Given the description of an element on the screen output the (x, y) to click on. 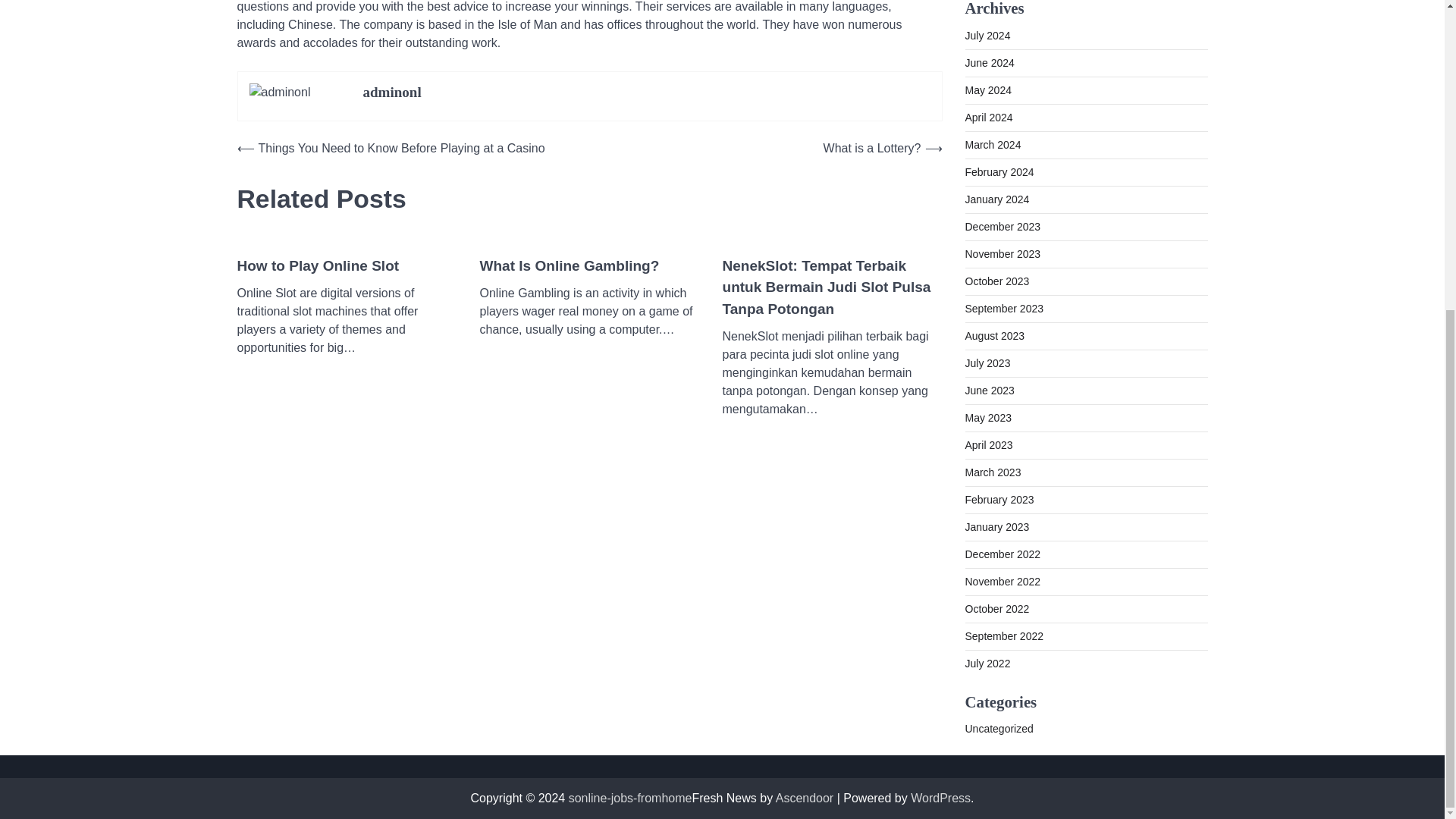
March 2024 (991, 144)
January 2023 (996, 526)
August 2023 (994, 336)
How to Play Online Slot (316, 266)
September 2023 (1003, 308)
May 2023 (986, 417)
January 2024 (996, 199)
December 2023 (1002, 226)
February 2023 (998, 499)
March 2023 (991, 472)
June 2023 (988, 390)
July 2023 (986, 363)
April 2023 (987, 444)
July 2024 (986, 35)
October 2023 (996, 281)
